Given the description of an element on the screen output the (x, y) to click on. 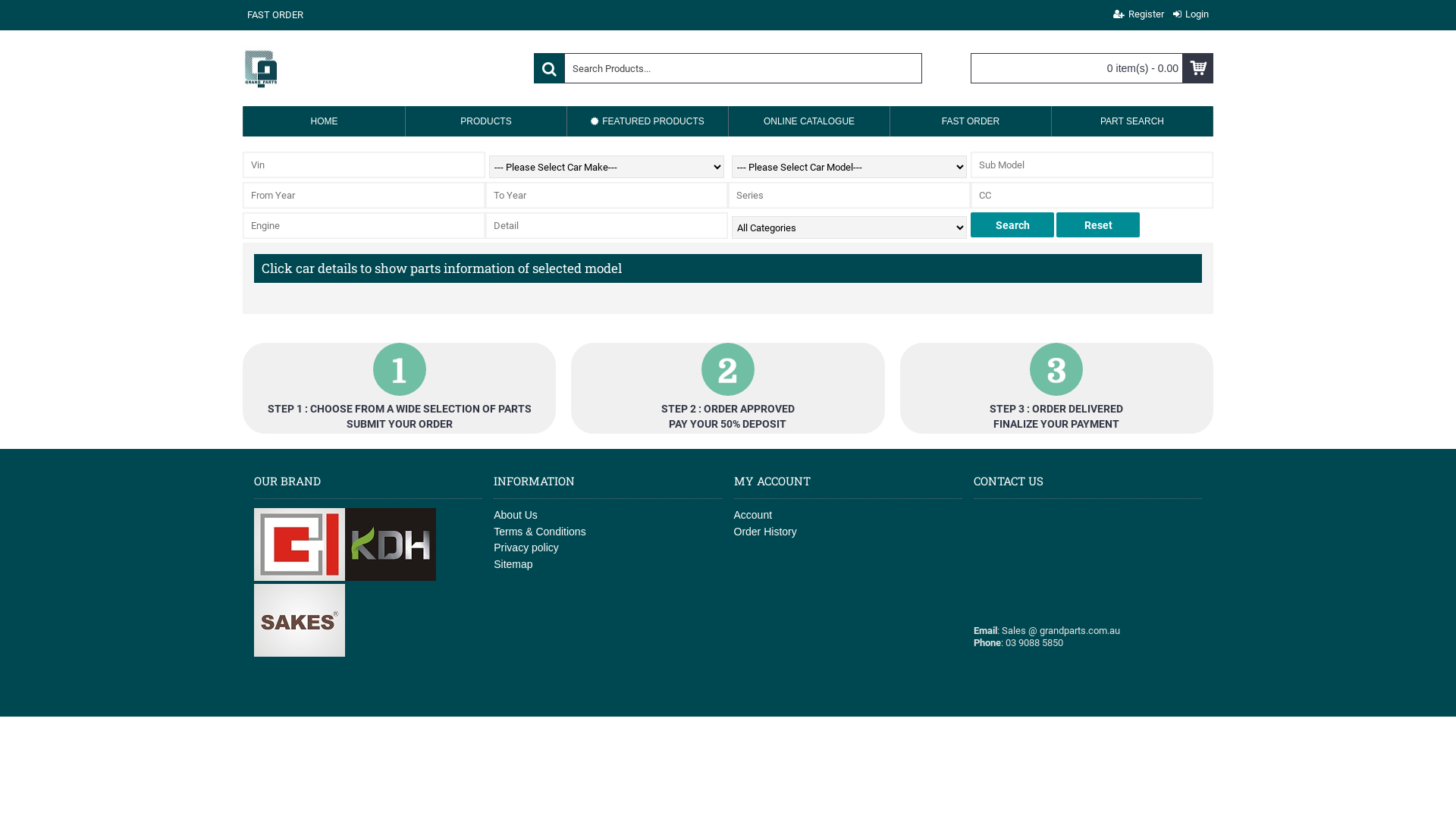
Account Element type: text (848, 515)
Terms & Conditions Element type: text (607, 531)
Order History Element type: text (848, 531)
Register Element type: text (1138, 15)
FAST ORDER Element type: text (274, 15)
HOME Element type: text (323, 121)
Sitemap Element type: text (607, 564)
FEATURED PRODUCTS Element type: text (647, 121)
0 item(s) - 0.00 Element type: text (1091, 67)
About Us Element type: text (607, 515)
ONLINE CATALOGUE Element type: text (808, 121)
Login Element type: text (1190, 15)
GRAND PARTS PTY LTD Element type: hover (261, 68)
PRODUCTS Element type: text (485, 121)
Privacy policy Element type: text (607, 547)
FAST ORDER Element type: text (970, 121)
PART SEARCH Element type: text (1131, 121)
